Given the description of an element on the screen output the (x, y) to click on. 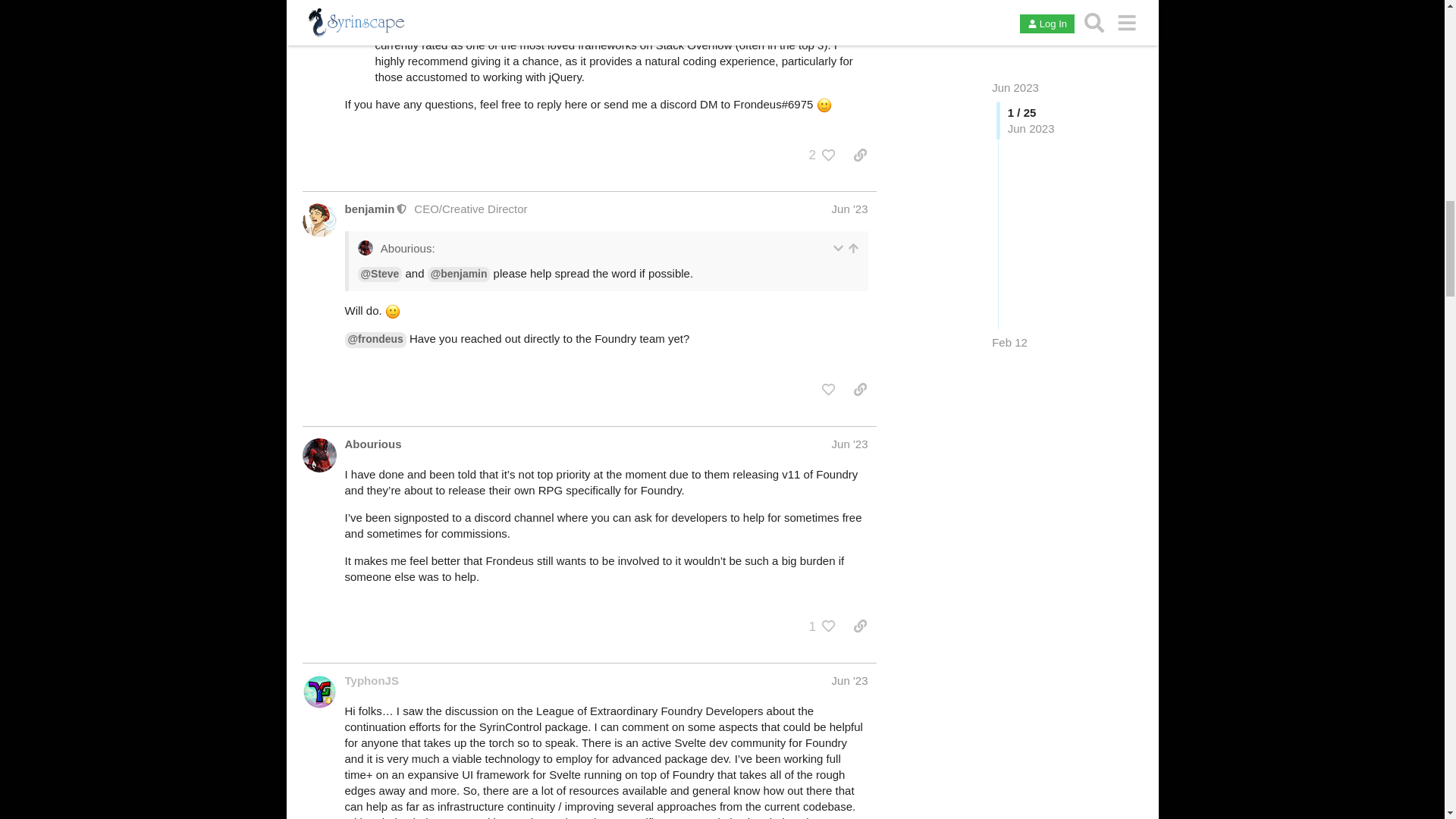
2 (807, 155)
